Given the description of an element on the screen output the (x, y) to click on. 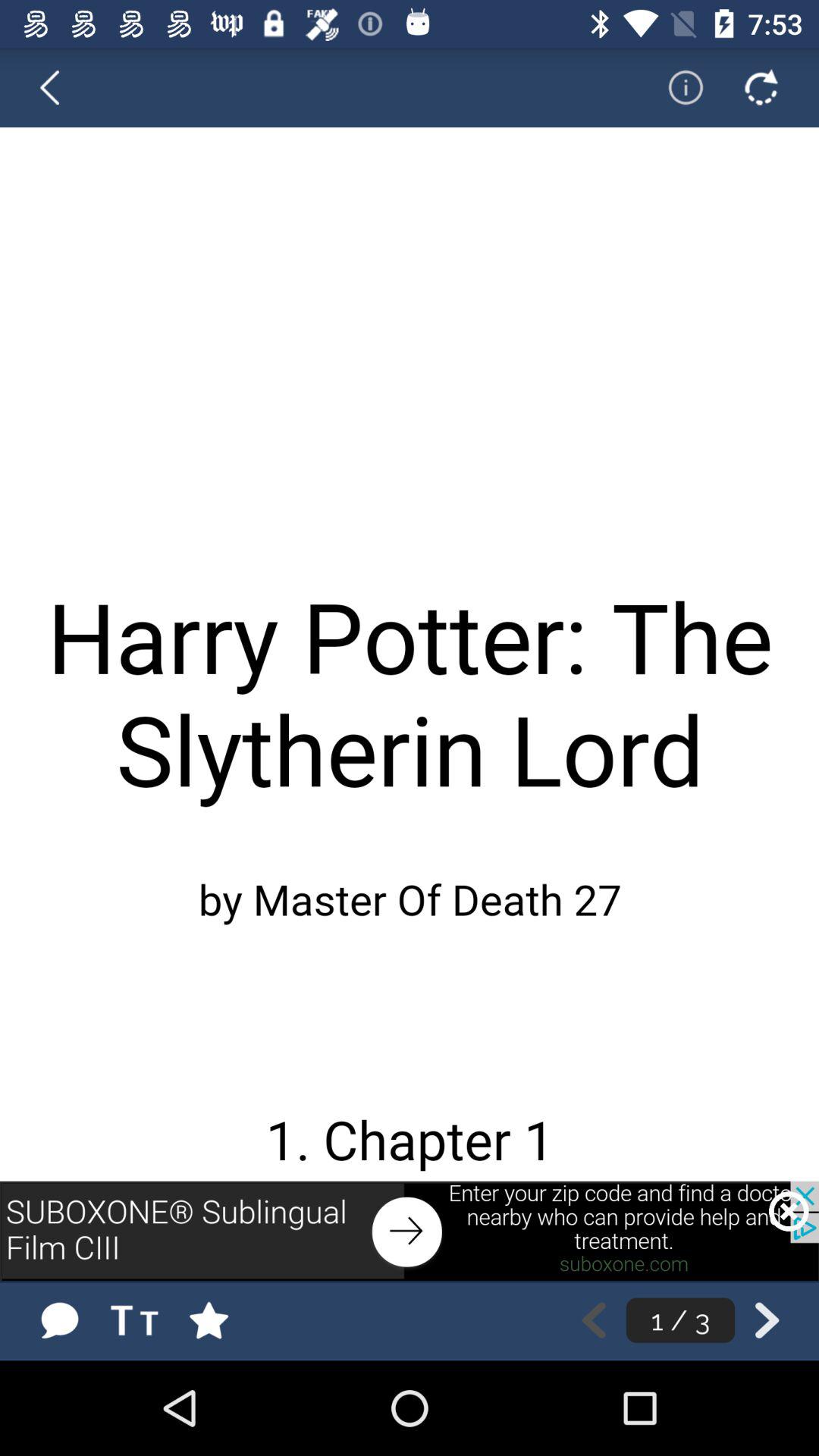
go to previous page (59, 87)
